Given the description of an element on the screen output the (x, y) to click on. 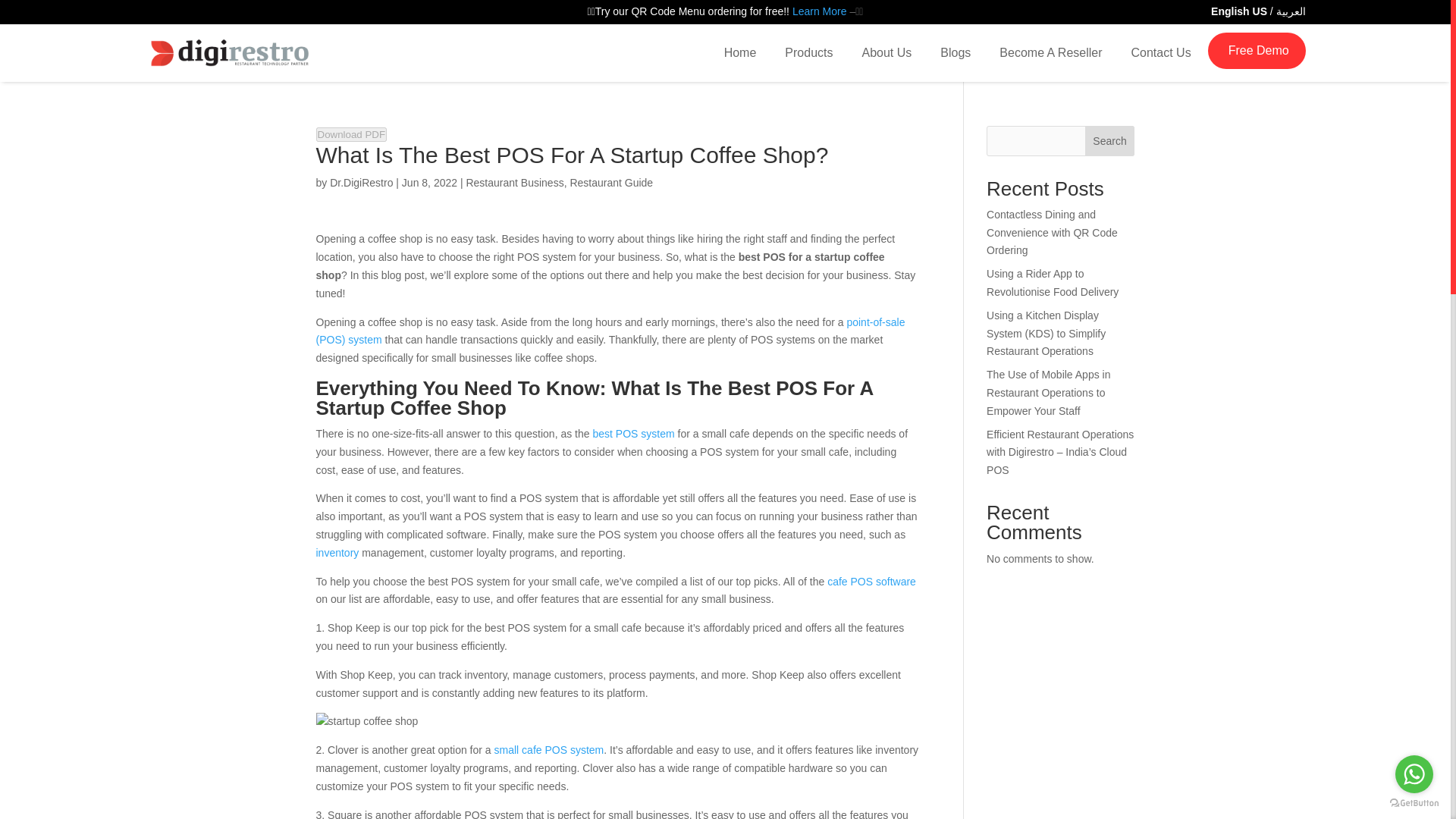
Contactless Dining and Convenience with QR Code Ordering (1052, 232)
Learn More (819, 10)
Dr.DigiRestro (361, 183)
inventory (336, 552)
Restaurant Business (514, 182)
Free Demo (1262, 50)
small cafe POS system (549, 749)
Restaurant Guide (610, 182)
Download PDF (351, 134)
